Given the description of an element on the screen output the (x, y) to click on. 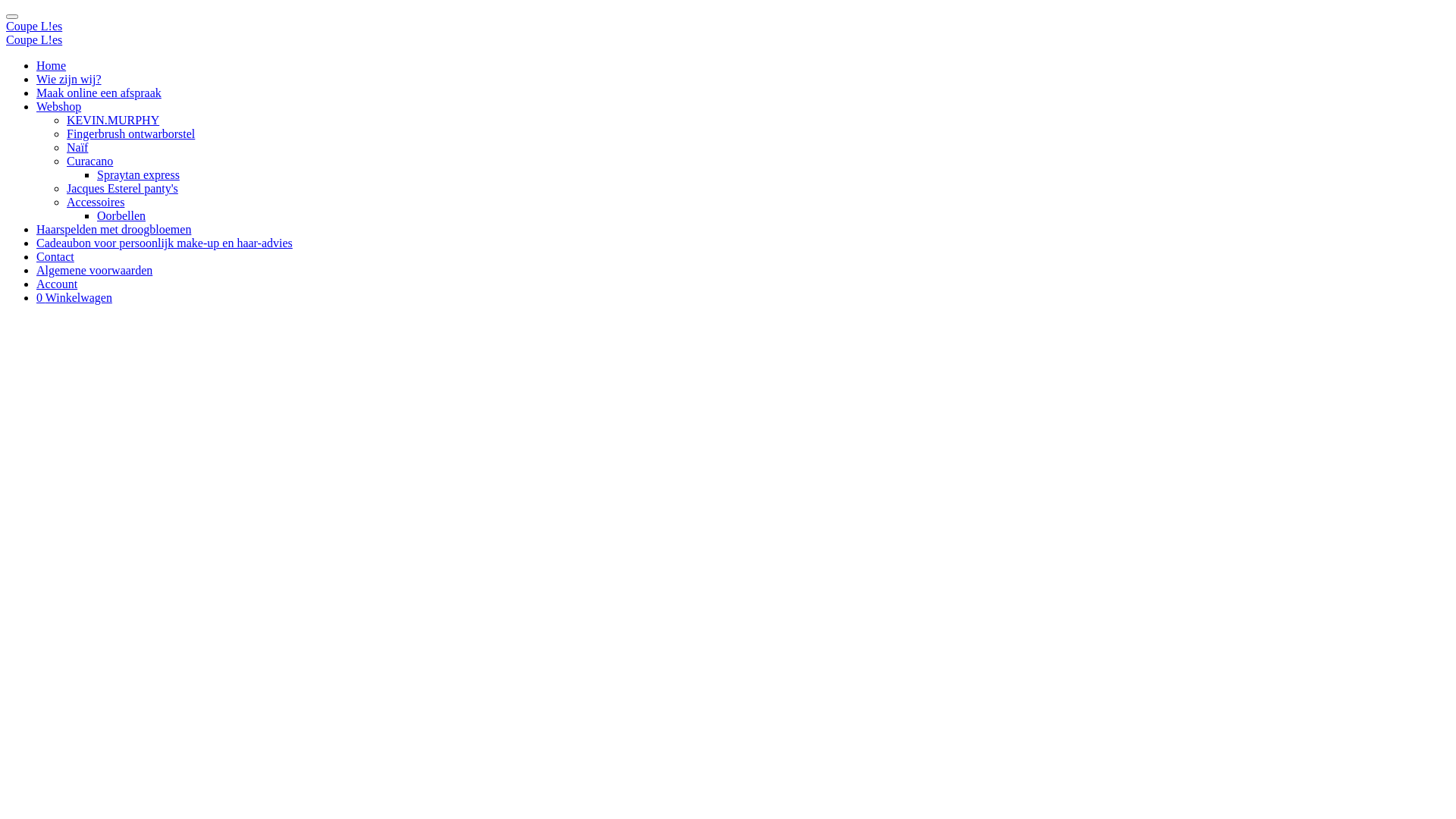
Haarspelden met droogbloemen Element type: text (113, 228)
Oorbellen Element type: text (121, 215)
Fingerbrush ontwarborstel Element type: text (130, 133)
Jacques Esterel panty's Element type: text (122, 188)
Cadeaubon voor persoonlijk make-up en haar-advies Element type: text (164, 242)
Home Element type: text (50, 65)
Algemene voorwaarden Element type: text (94, 269)
Spraytan express Element type: text (138, 174)
KEVIN.MURPHY Element type: text (112, 119)
Account Element type: text (56, 283)
Coupe L!es Element type: text (34, 39)
Contact Element type: text (55, 256)
0 Winkelwagen Element type: text (74, 297)
Coupe L!es Element type: text (34, 25)
Maak online een afspraak Element type: text (98, 92)
Webshop Element type: text (58, 106)
Curacano Element type: text (89, 160)
Accessoires Element type: text (95, 201)
Wie zijn wij? Element type: text (68, 78)
